Given the description of an element on the screen output the (x, y) to click on. 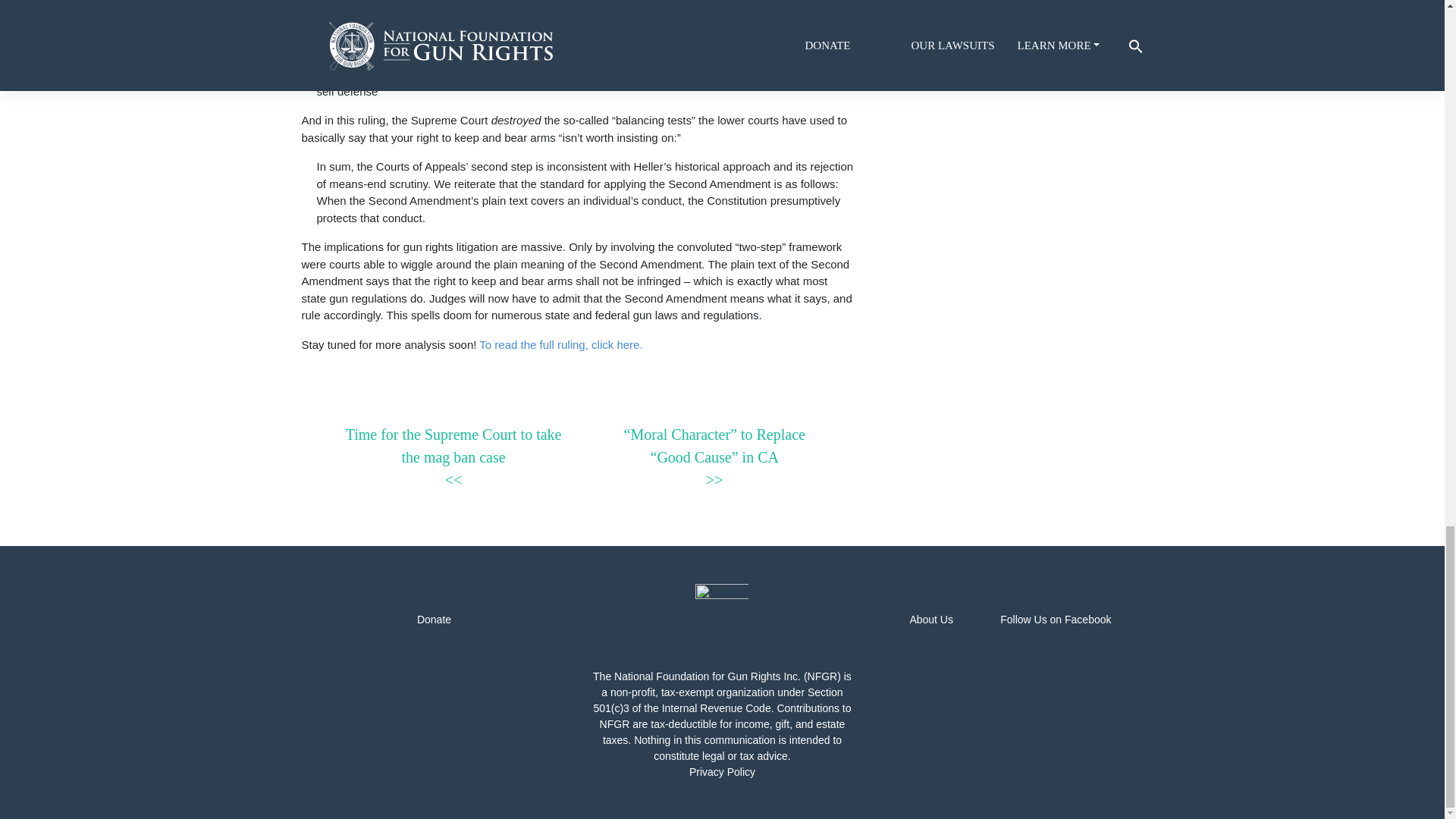
To read the (507, 344)
